Given the description of an element on the screen output the (x, y) to click on. 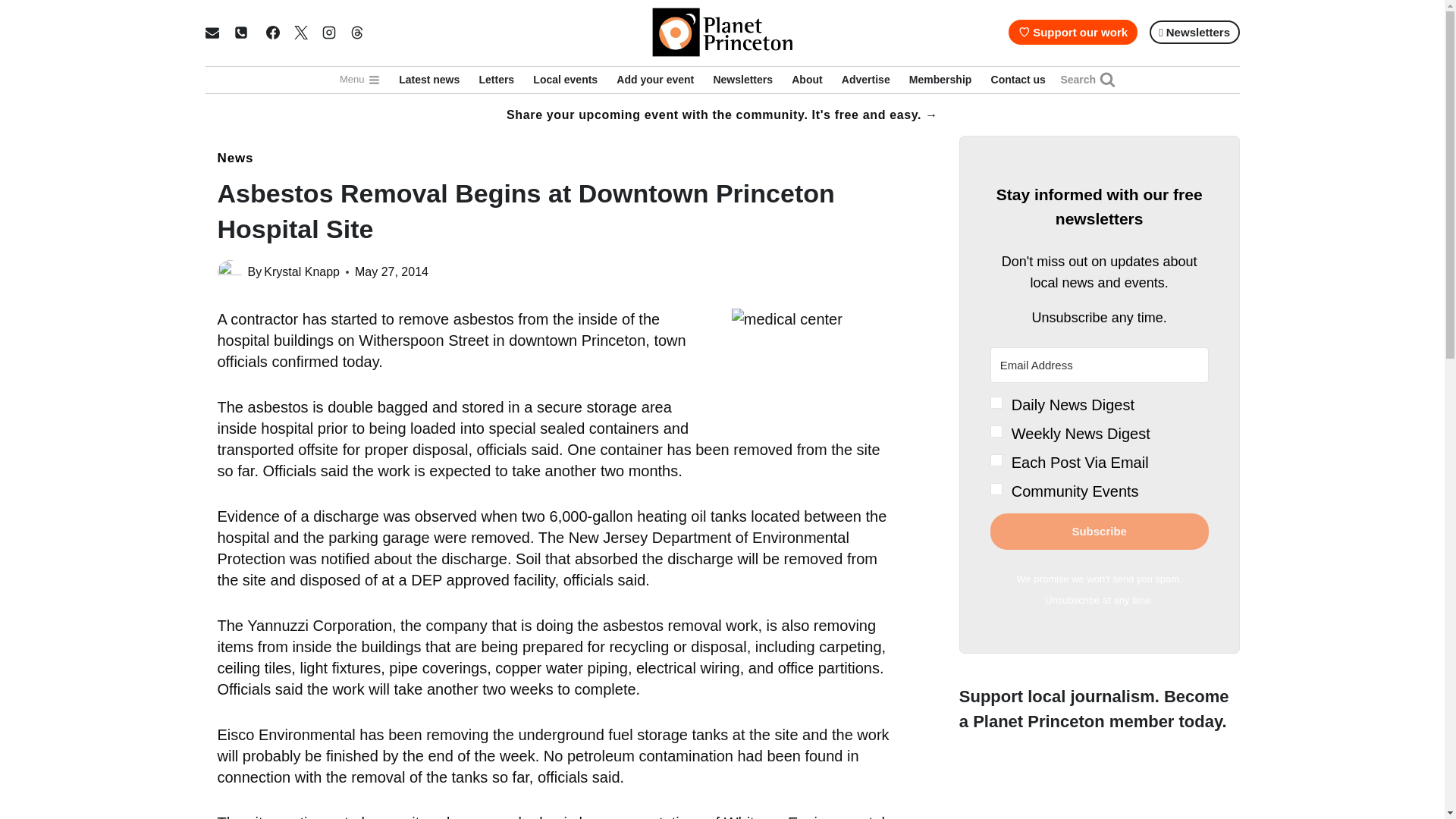
Menu (360, 79)
Letters (496, 79)
Newsletters (743, 79)
Krystal Knapp (301, 271)
About (807, 79)
Add your event (655, 79)
Advertise (865, 79)
Latest news (429, 79)
Membership (940, 79)
